Given the description of an element on the screen output the (x, y) to click on. 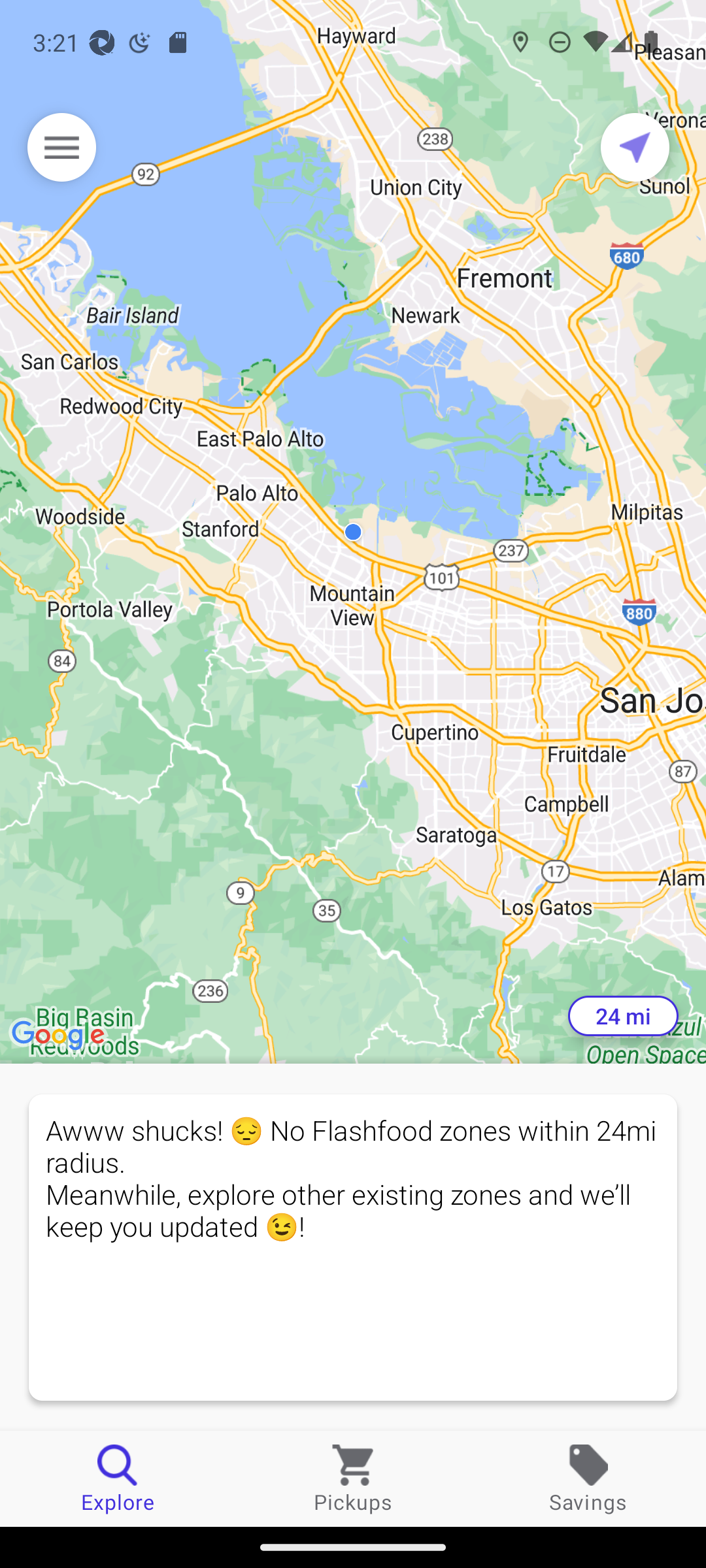
Menu (61, 146)
Current location (634, 146)
24 mi (623, 1015)
Pickups (352, 1478)
Savings (588, 1478)
